Given the description of an element on the screen output the (x, y) to click on. 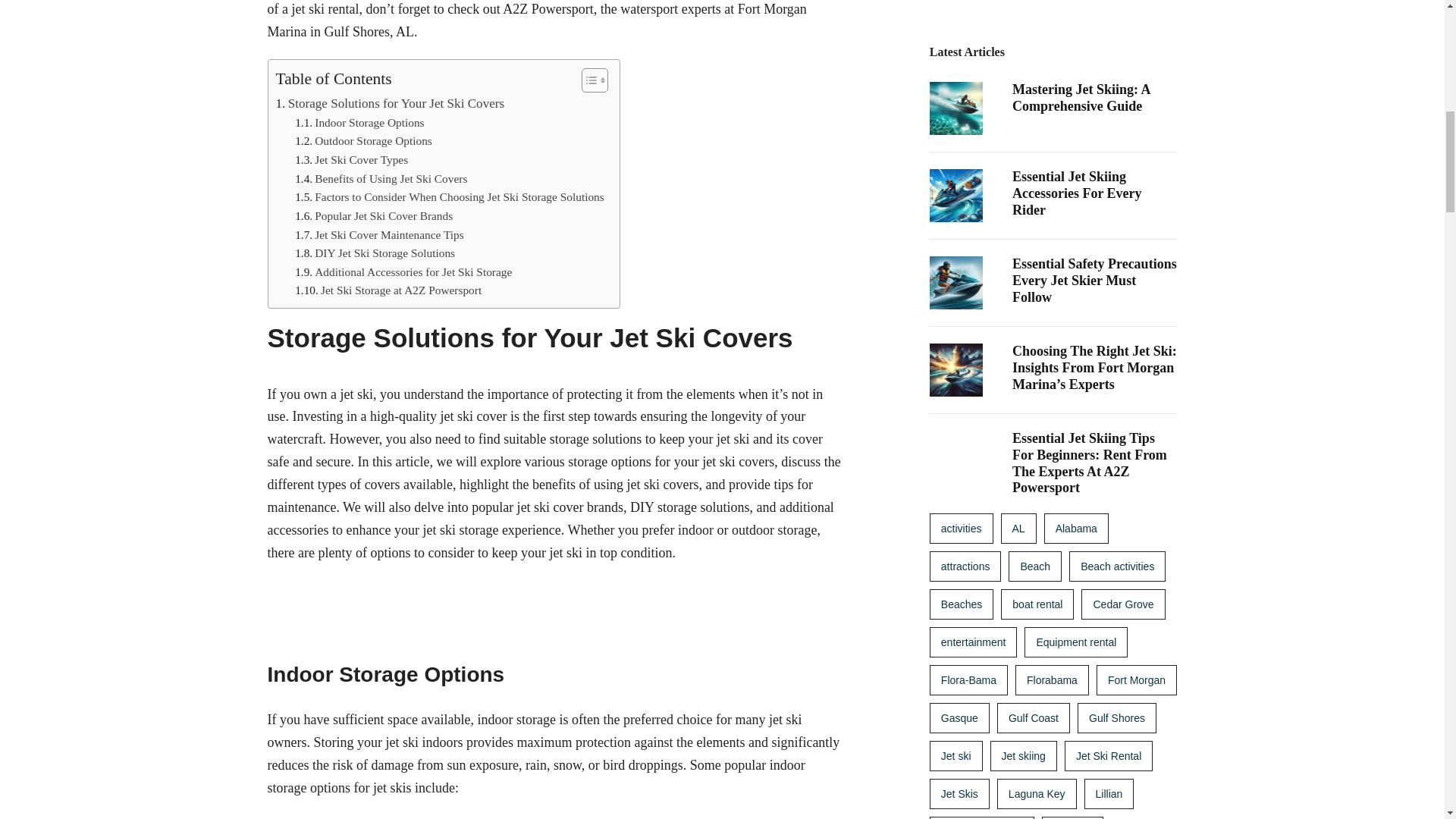
Benefits of Using Jet Ski Covers (381, 179)
Jet Ski Cover Types (351, 159)
Fort Morgan Marina in Gulf Shores, AL (536, 20)
Jet Ski Cover Maintenance Tips (379, 235)
Popular Jet Ski Cover Brands (373, 216)
Storage Solutions for Your Jet Ski Covers (390, 102)
Popular Jet Ski Cover Brands (373, 216)
Indoor Storage Options (359, 122)
